Given the description of an element on the screen output the (x, y) to click on. 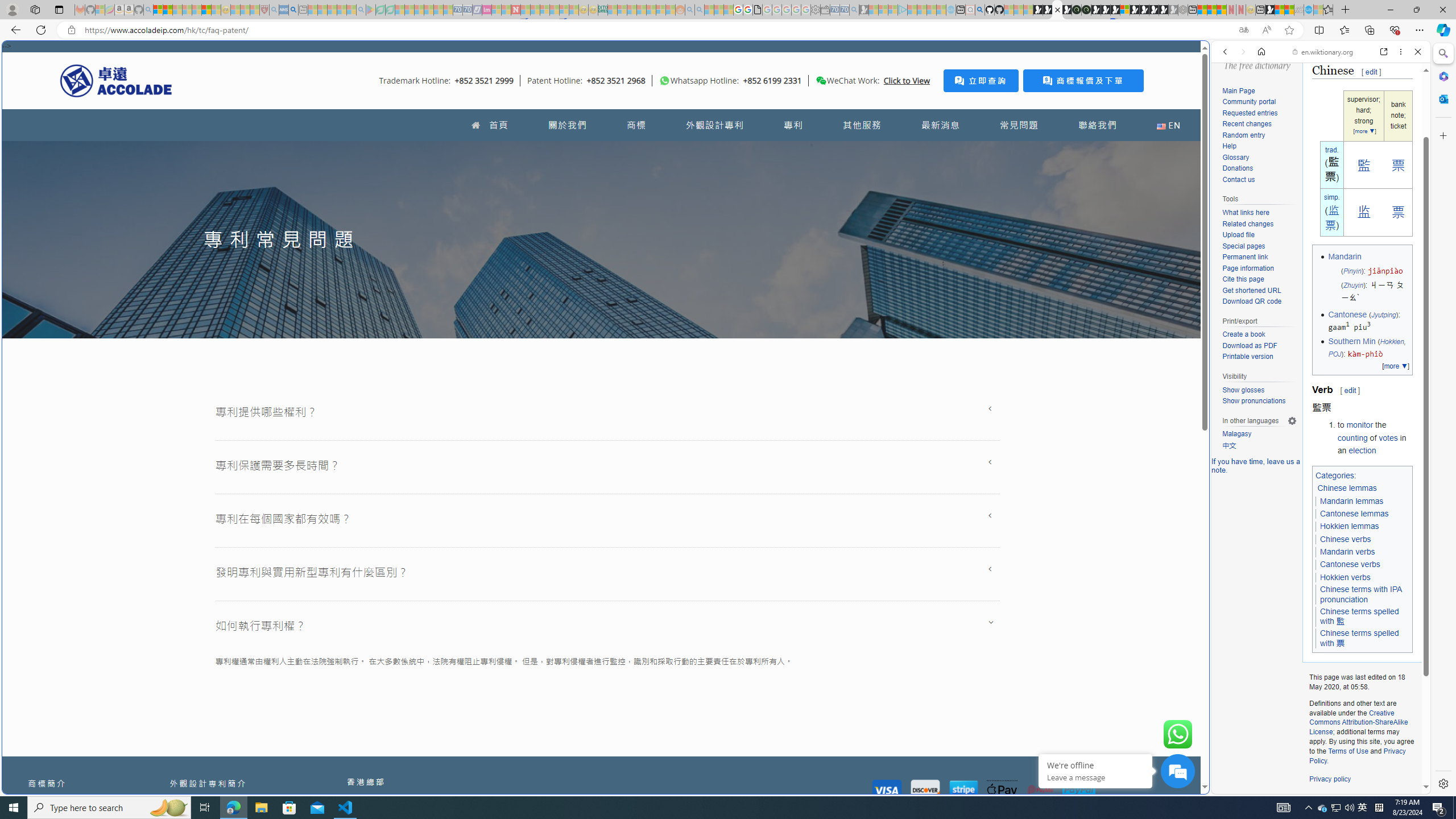
Frequently visited (965, 151)
Contact us (1238, 179)
Jobs - lastminute.com Investor Portal - Sleeping (486, 9)
Accolade IP HK Logo (116, 80)
Random entry (1243, 135)
